Given the description of an element on the screen output the (x, y) to click on. 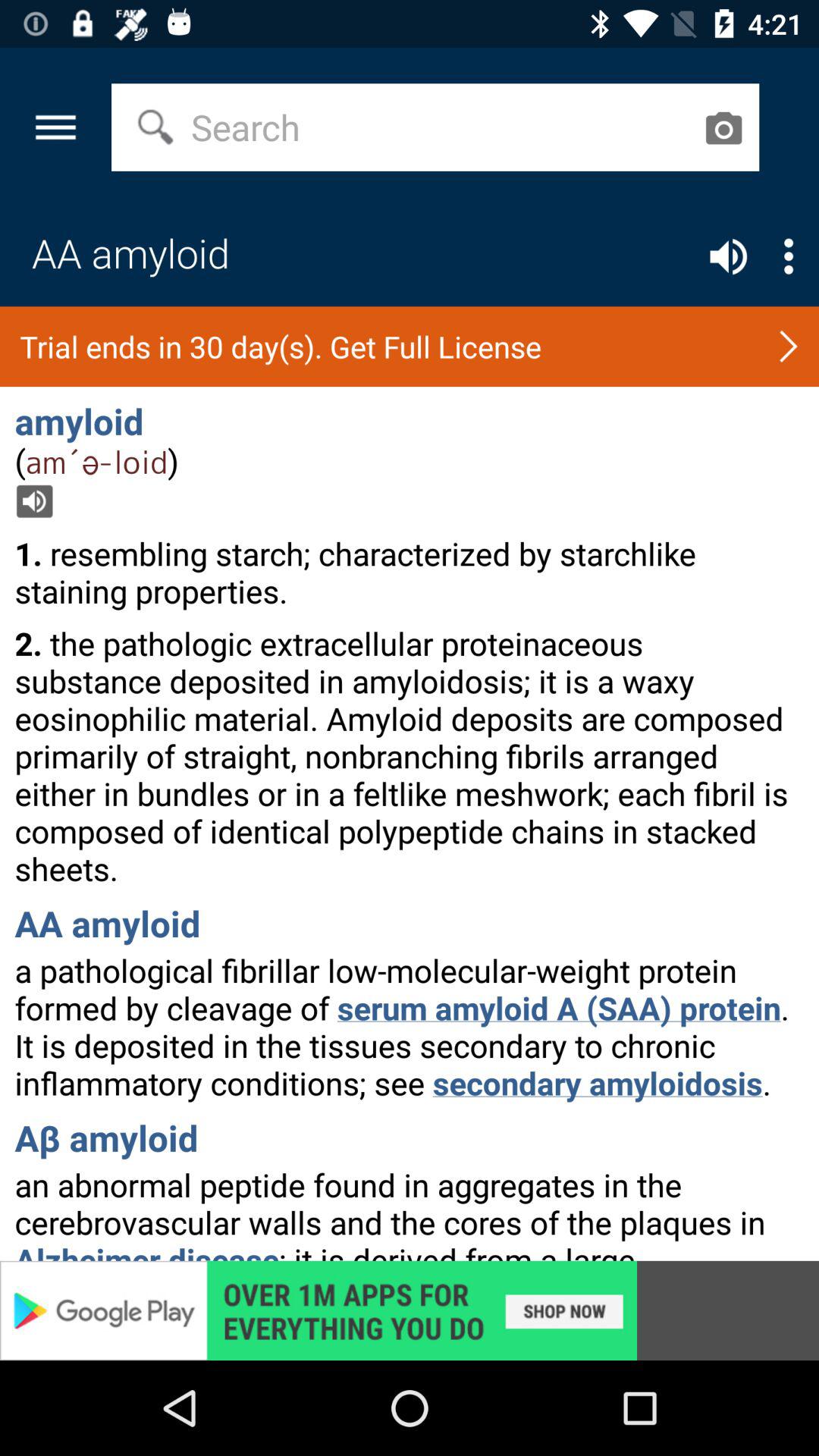
sound control (728, 256)
